Given the description of an element on the screen output the (x, y) to click on. 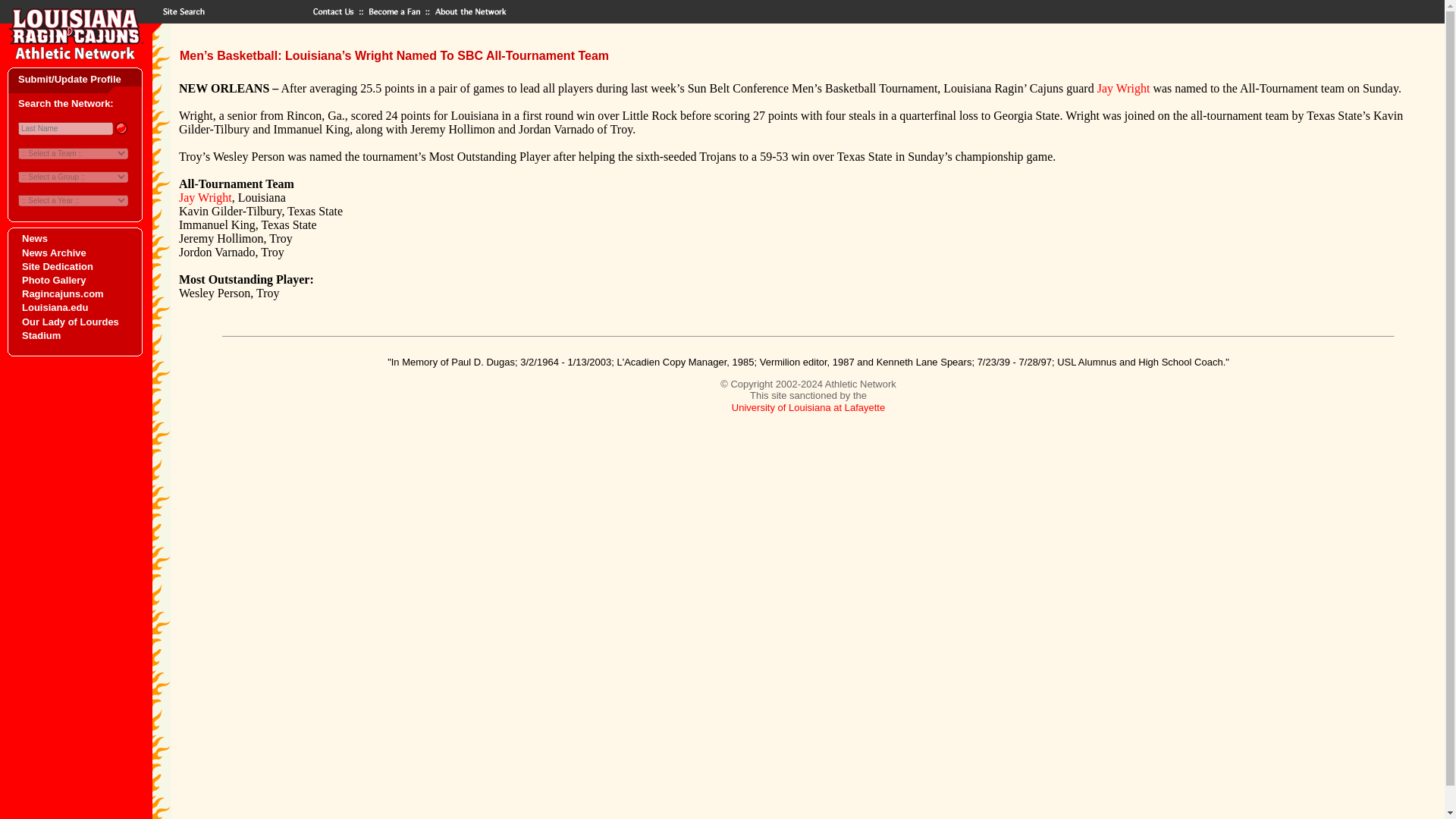
University of Louisiana at Lafayette (808, 407)
Submit (120, 127)
Jay Wright (205, 196)
Photo Gallery (53, 279)
Our Lady of Lourdes Stadium (70, 327)
Ragincajuns.com (62, 293)
Jay Wright (1123, 88)
News (34, 238)
News Archive (53, 252)
Site Dedication (57, 266)
